Given the description of an element on the screen output the (x, y) to click on. 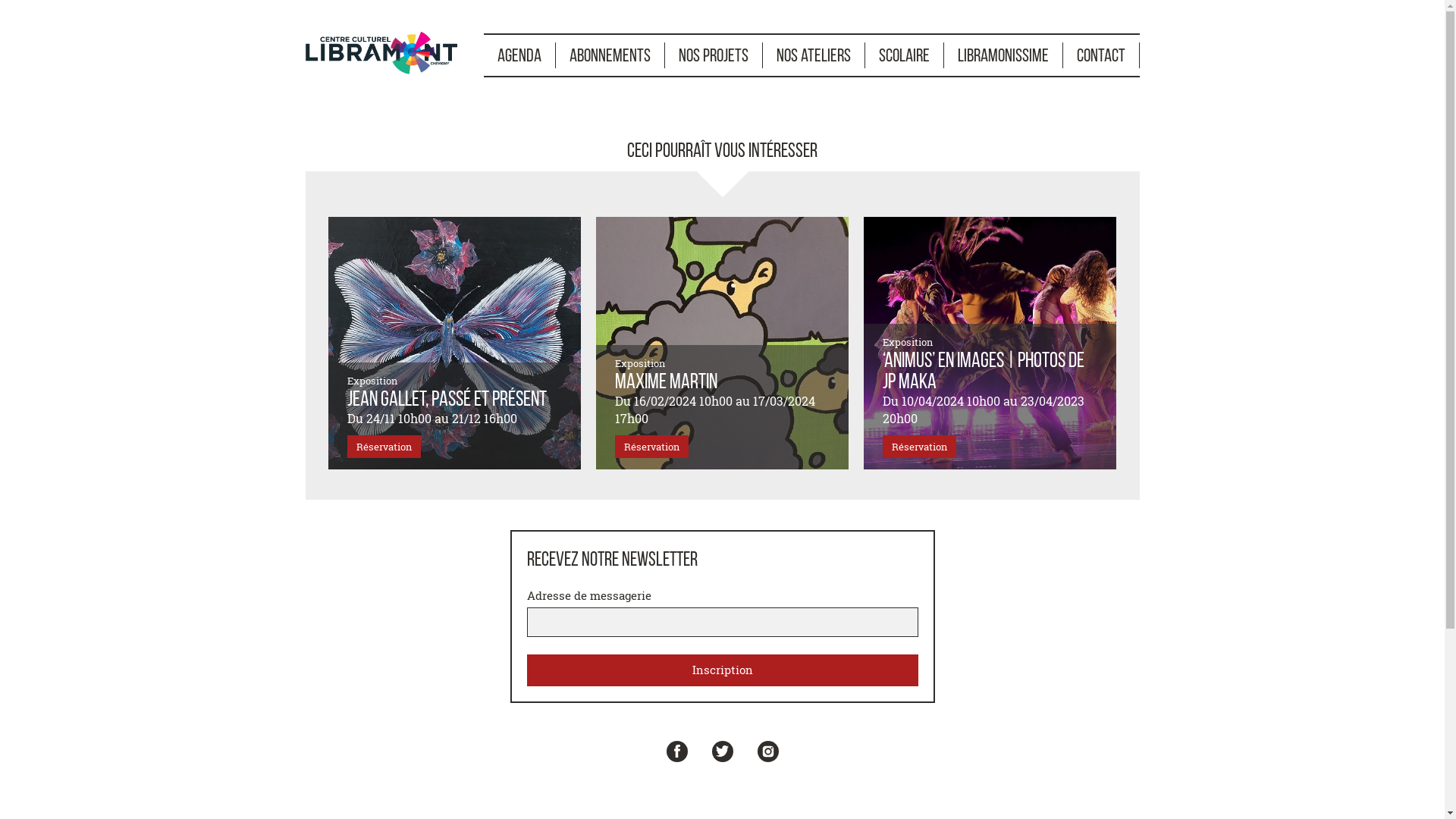
Libramonissime Element type: text (1002, 55)
Scolaire Element type: text (903, 55)
Nos projets Element type: text (713, 55)
Contact Element type: text (1101, 55)
Abonnements Element type: text (609, 55)
Twitter Element type: text (721, 751)
Accueil - Centre Culturel Libramont Element type: hover (380, 50)
Agenda Element type: text (519, 55)
Nos ateliers Element type: text (813, 55)
Inscription Element type: text (721, 669)
Instagram Element type: text (767, 751)
Facebook Element type: text (676, 751)
